Given the description of an element on the screen output the (x, y) to click on. 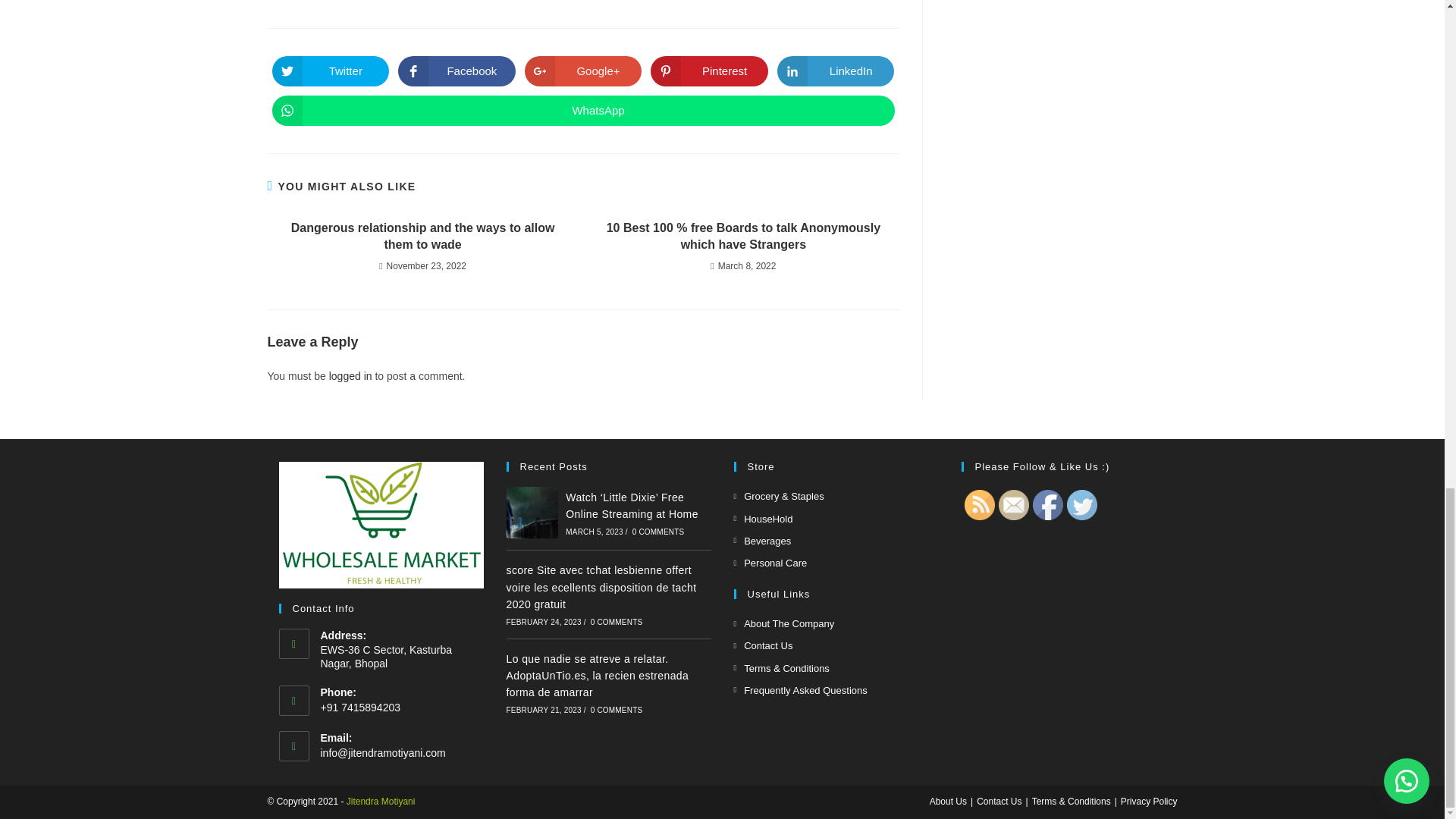
RSS (978, 504)
Twitter (1080, 504)
Follow by Email (1012, 504)
Facebook (1047, 504)
